Given the description of an element on the screen output the (x, y) to click on. 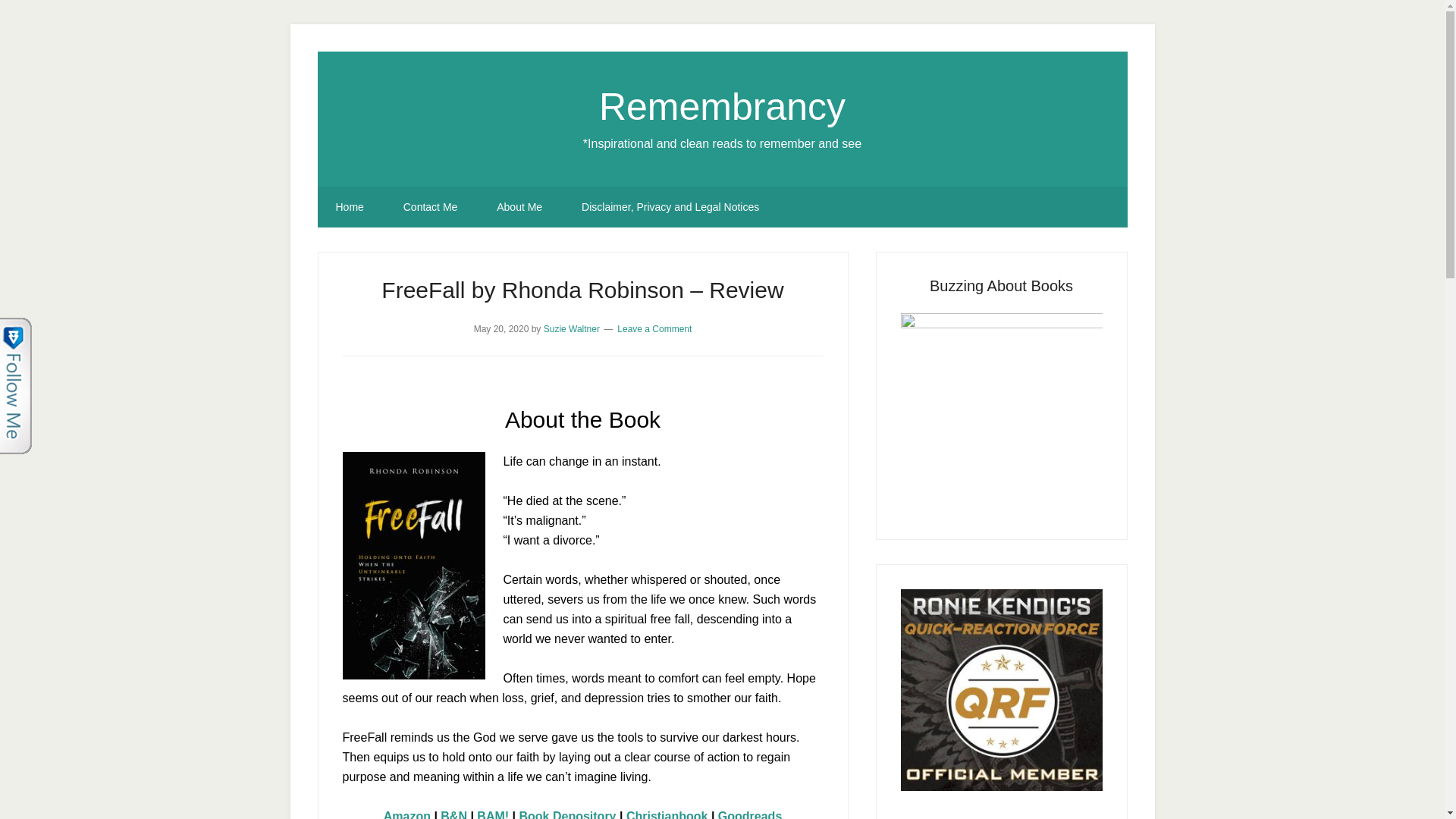
BAM! (492, 814)
Contact Me (430, 206)
Amazon (407, 814)
Goodreads (749, 814)
Disclaimer, Privacy and Legal Notices (670, 206)
Leave a Comment (654, 328)
Suzie Waltner (571, 328)
Book Depository (566, 814)
Remembrancy (721, 106)
About Me (519, 206)
Home (349, 206)
Christianbook (666, 814)
